Given the description of an element on the screen output the (x, y) to click on. 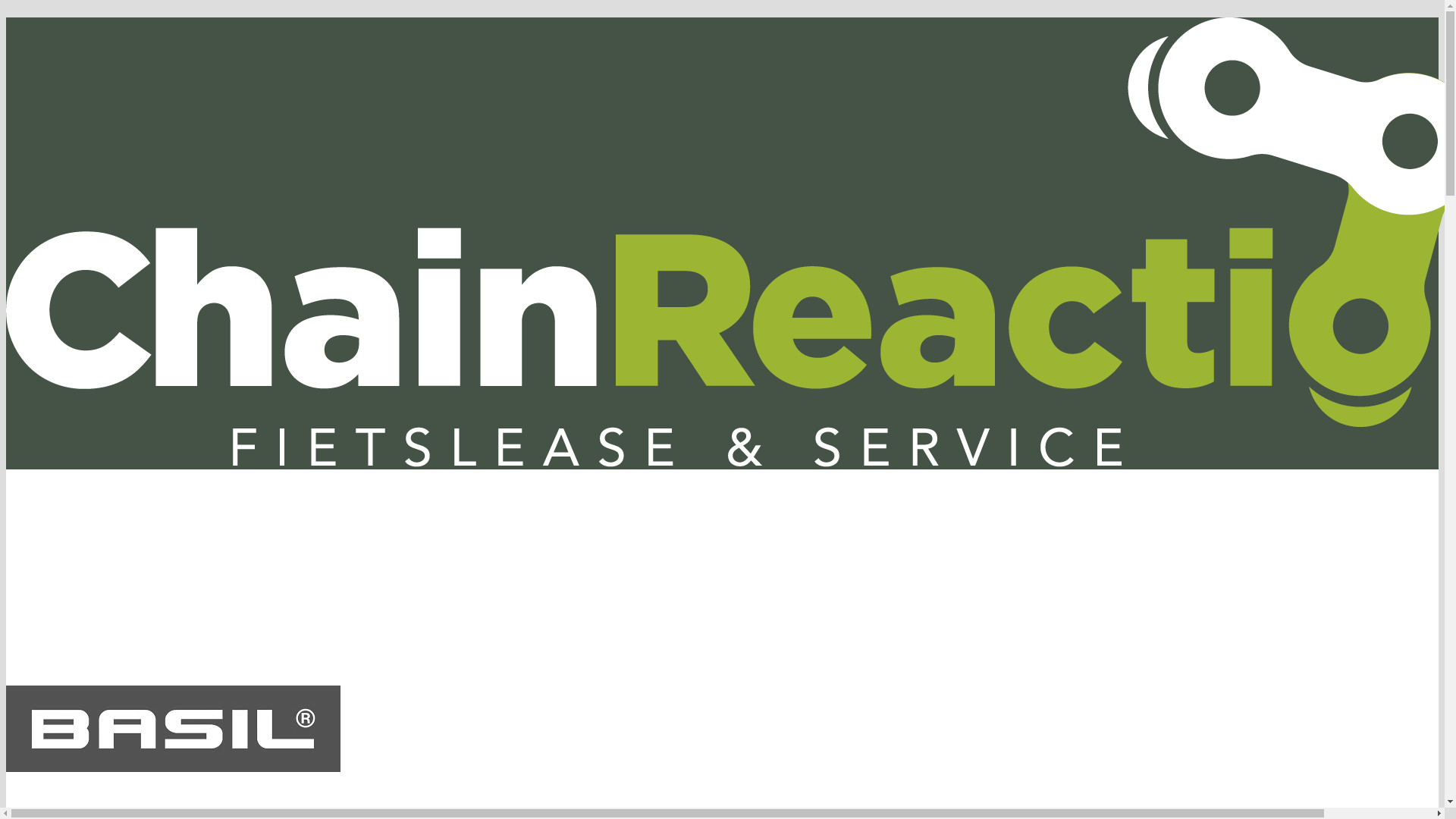
Service Element type: text (212, 518)
Support Element type: text (266, 518)
Fietsen Element type: text (160, 518)
Contact Element type: text (322, 518)
Homepage Element type: text (35, 518)
Fietslease Element type: text (102, 518)
